Given the description of an element on the screen output the (x, y) to click on. 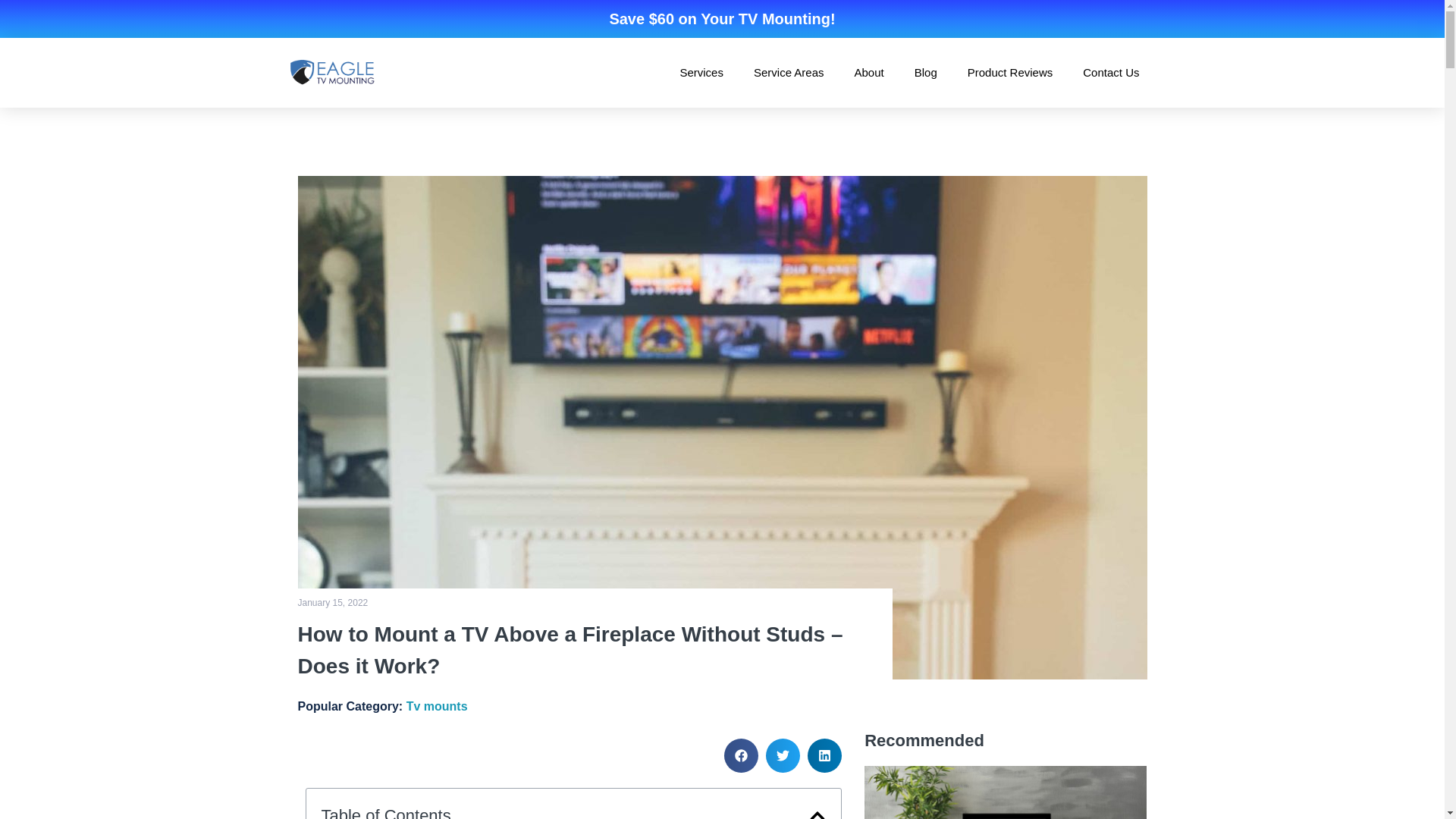
Contact Us (1110, 72)
Service Areas (789, 72)
Product Reviews (1010, 72)
Services (700, 72)
